Given the description of an element on the screen output the (x, y) to click on. 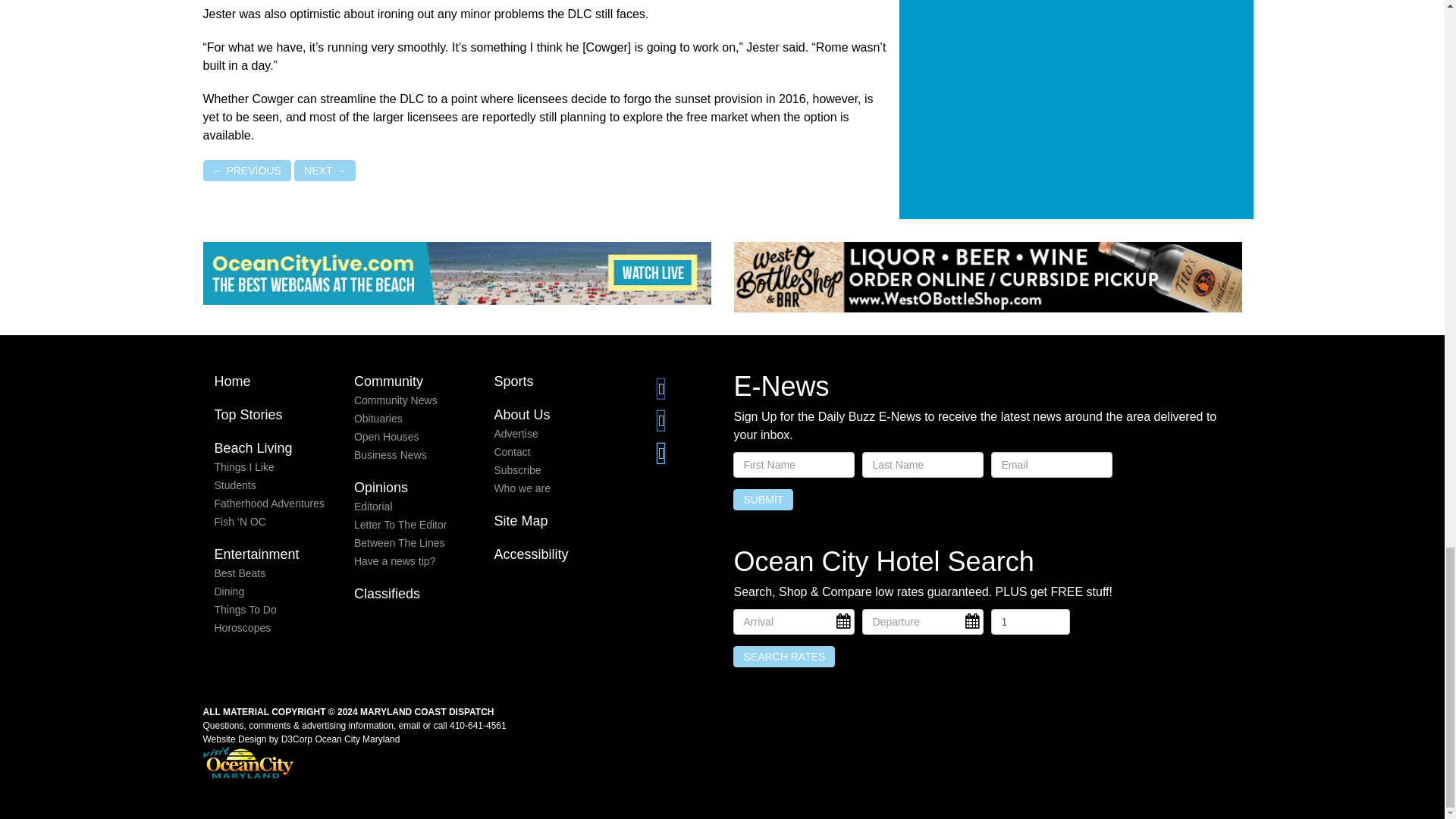
1 (1029, 621)
